Given the description of an element on the screen output the (x, y) to click on. 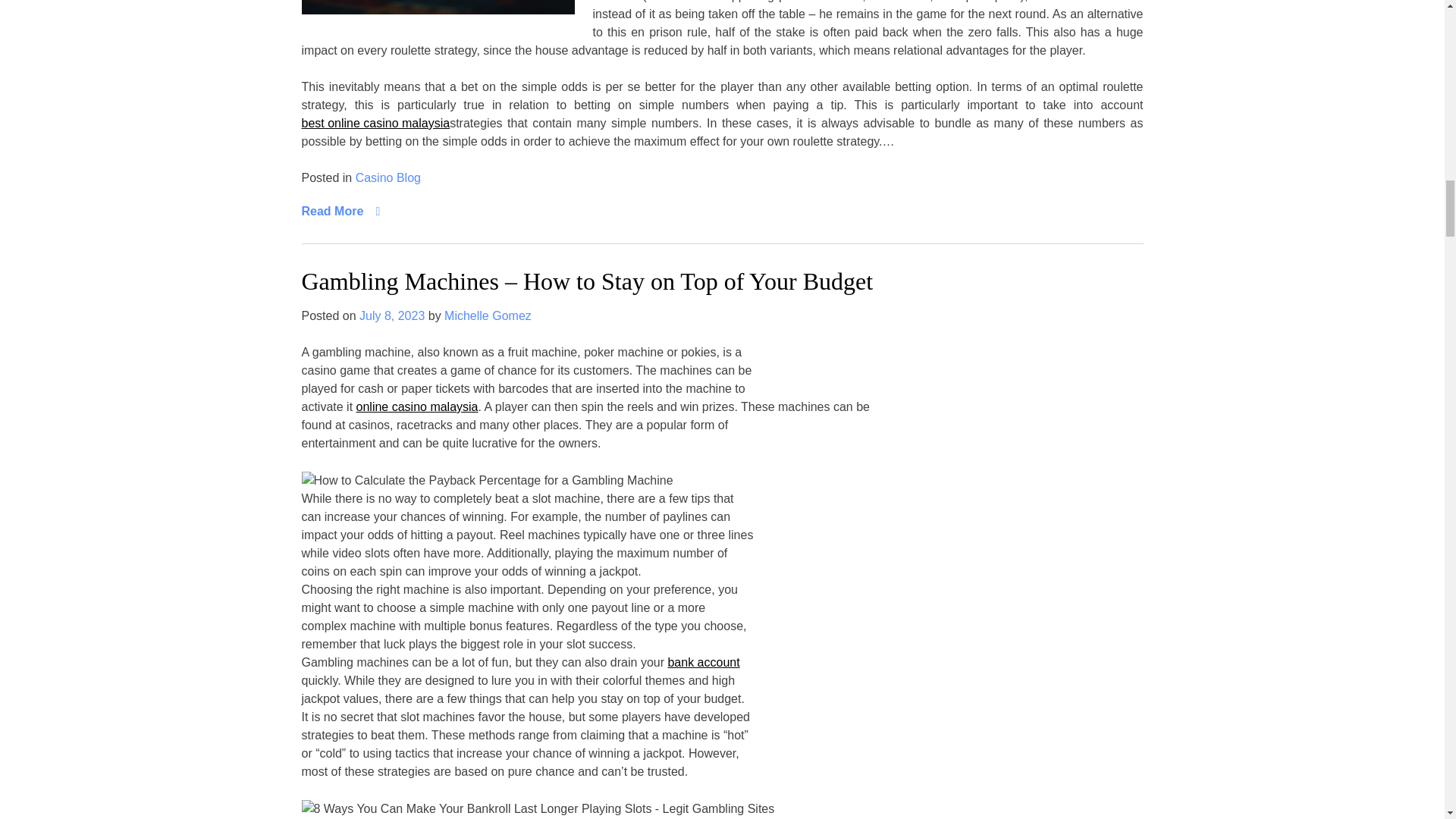
Michelle Gomez (487, 316)
Read More (340, 211)
July 8, 2023 (392, 316)
best online casino malaysia (375, 123)
Casino Blog (387, 177)
online casino malaysia (417, 407)
bank account (702, 662)
